Given the description of an element on the screen output the (x, y) to click on. 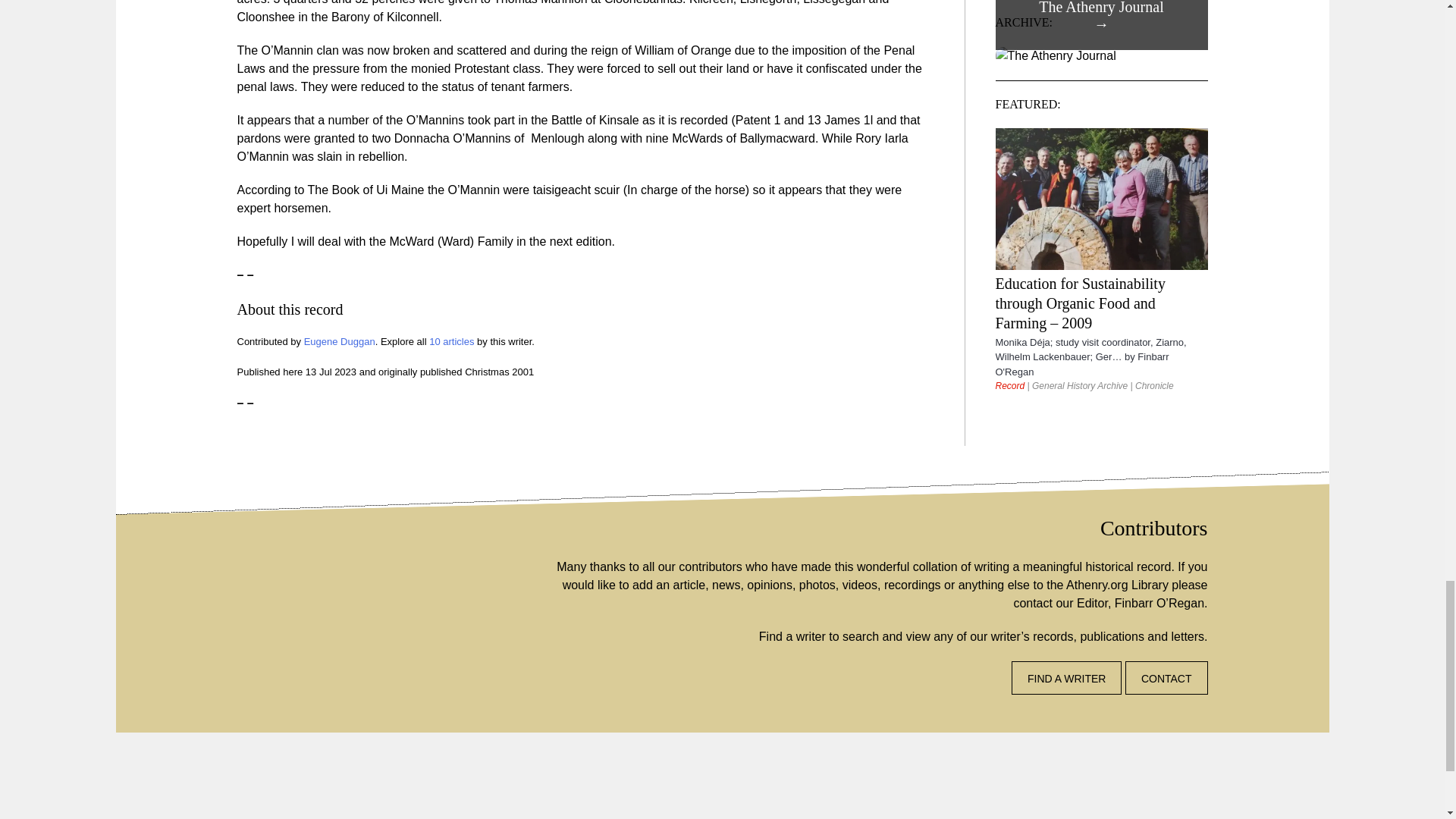
10 articles (451, 341)
CONTACT (1166, 677)
FIND A WRITER (1066, 677)
Eugene Duggan (339, 341)
